Given the description of an element on the screen output the (x, y) to click on. 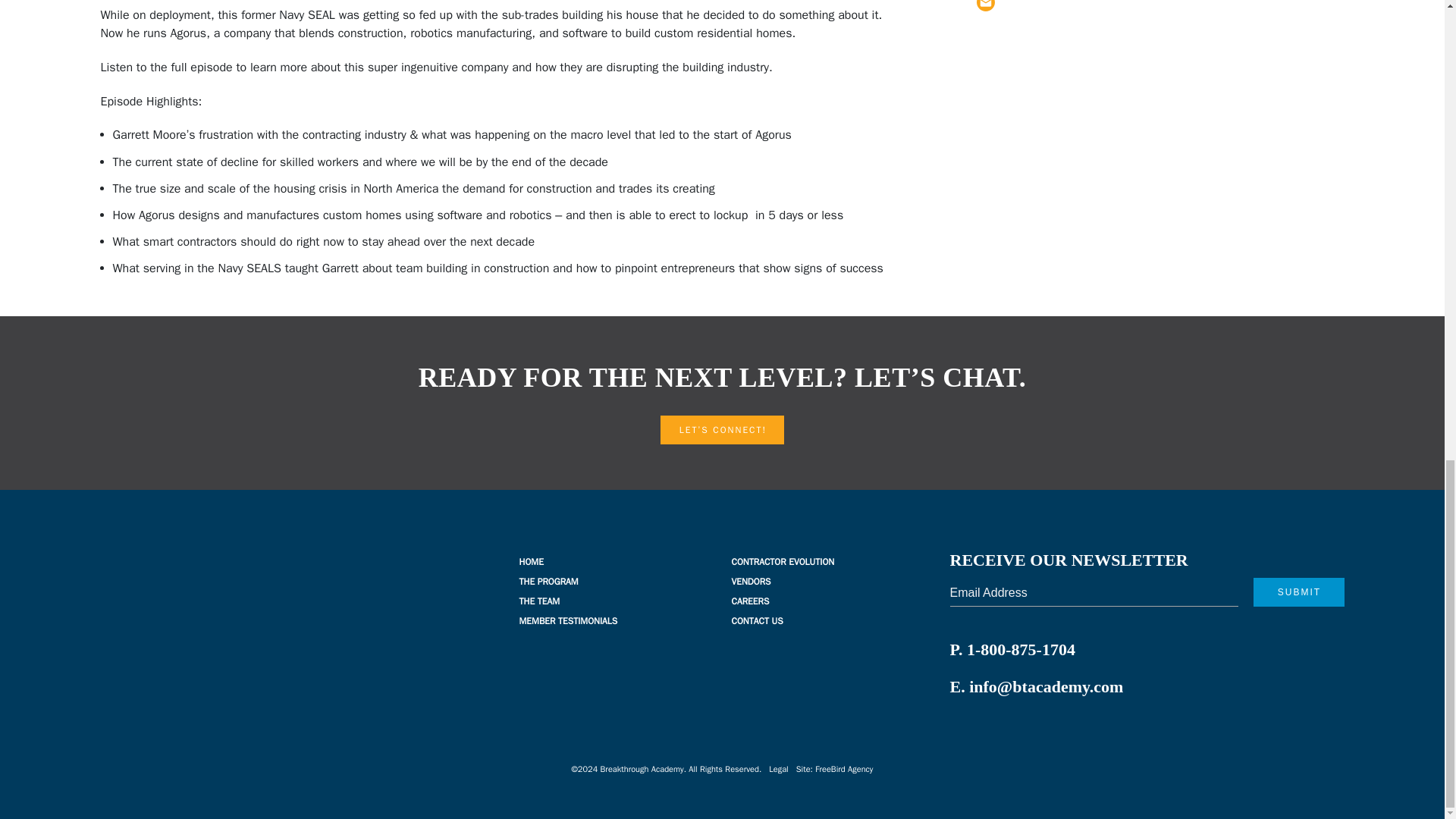
Email (985, 5)
THE PROGRAM (548, 581)
Submit (1297, 592)
MEMBER TESTIMONIALS (567, 621)
THE TEAM (538, 601)
HOME (530, 562)
